Given the description of an element on the screen output the (x, y) to click on. 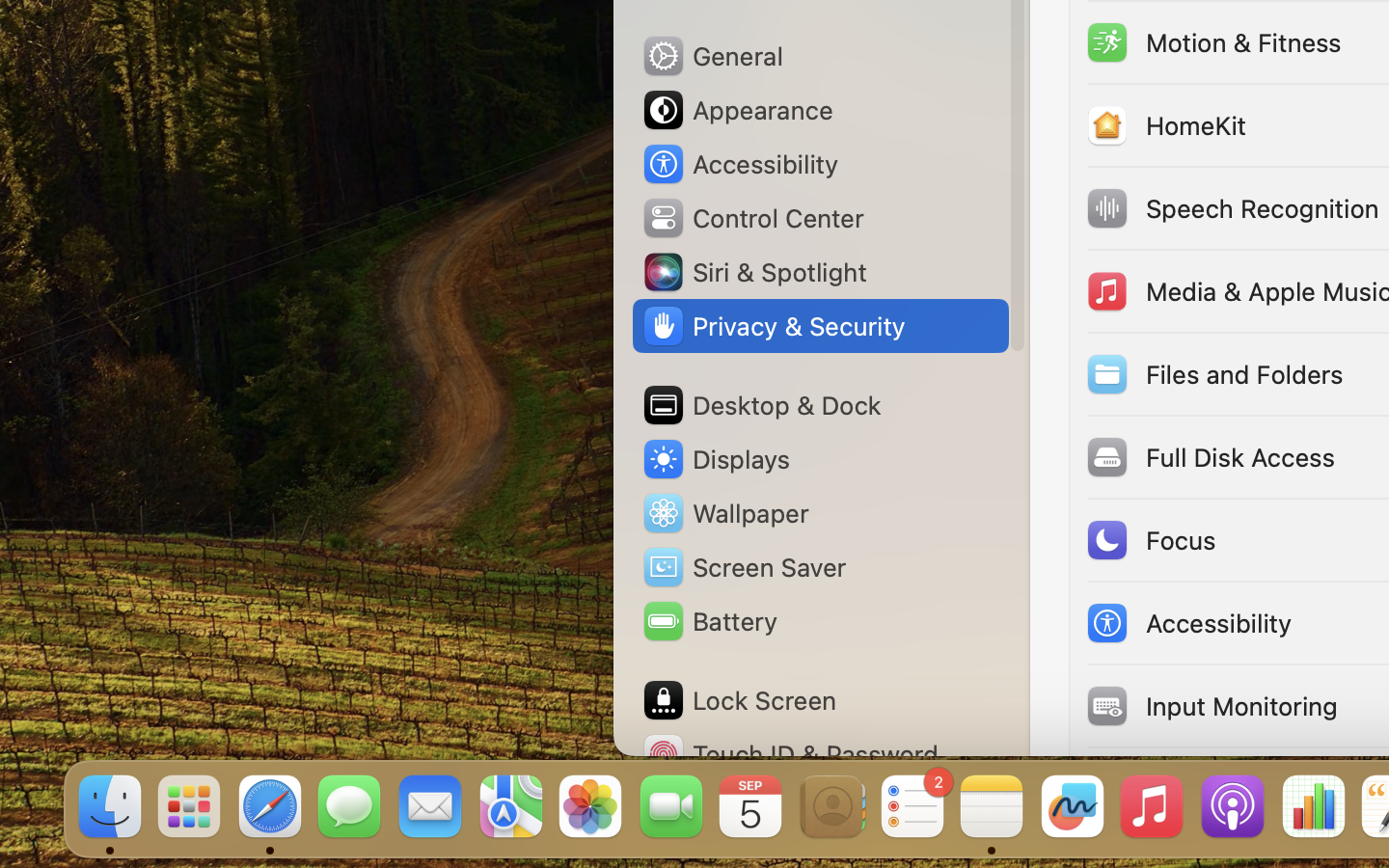
Battery Element type: AXStaticText (708, 620)
Accessibility Element type: AXStaticText (739, 163)
Touch ID & Password Element type: AXStaticText (789, 754)
Desktop & Dock Element type: AXStaticText (760, 404)
Lock Screen Element type: AXStaticText (738, 700)
